Given the description of an element on the screen output the (x, y) to click on. 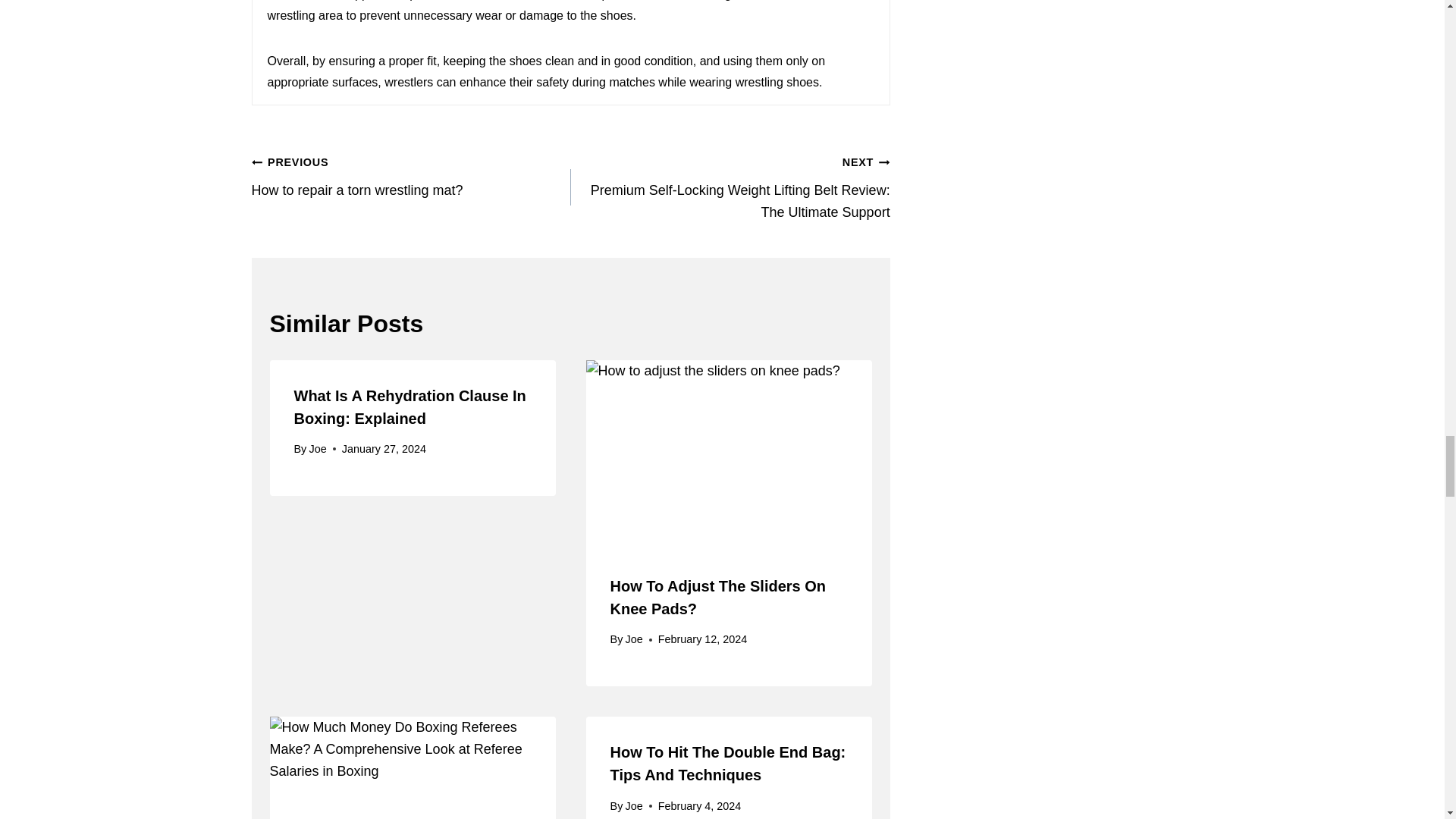
How To Adjust The Sliders On Knee Pads? (410, 175)
Joe (717, 597)
What Is A Rehydration Clause In Boxing: Explained (634, 639)
Joe (409, 406)
